Given the description of an element on the screen output the (x, y) to click on. 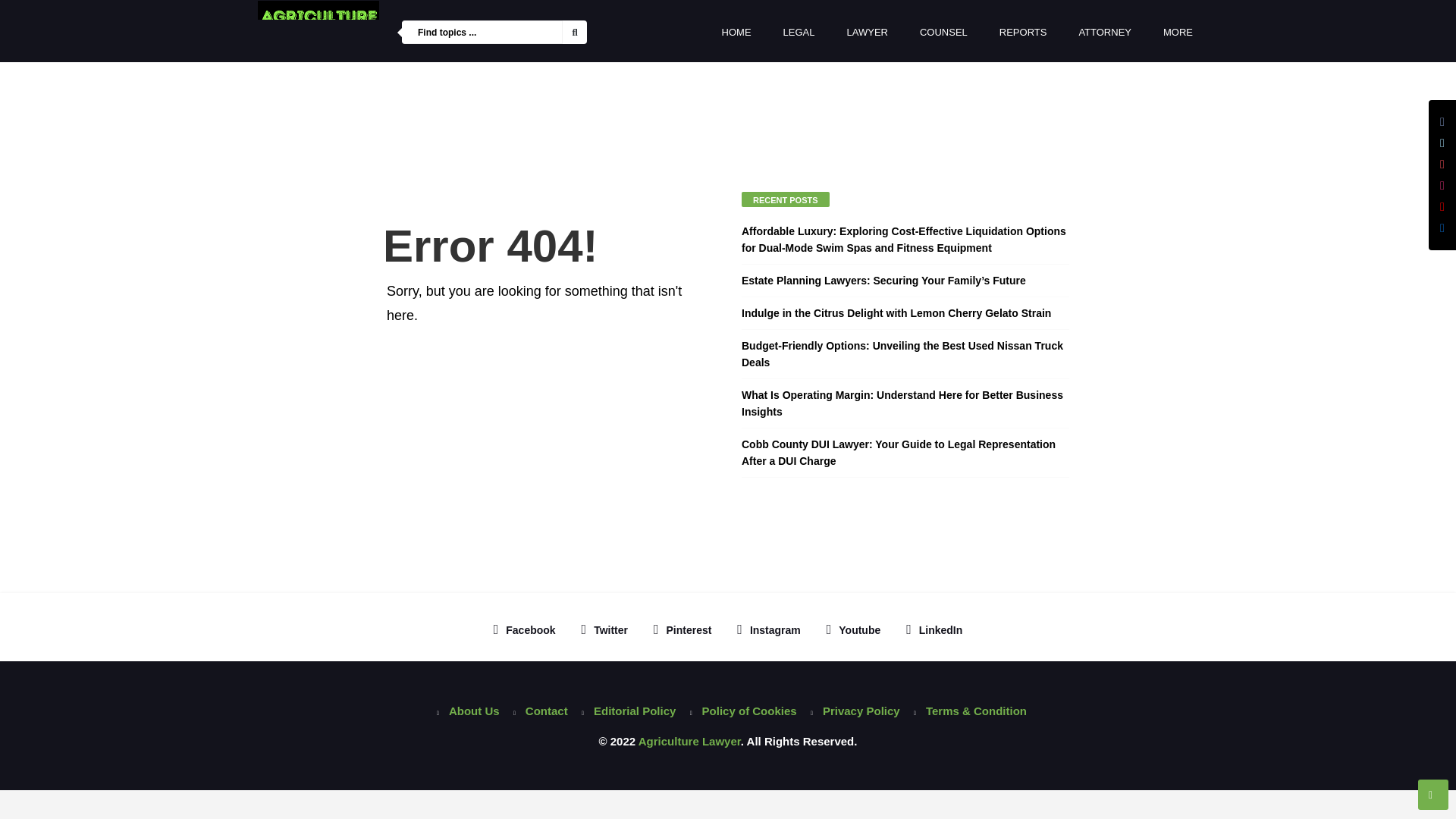
Twitter (603, 629)
Editorial Policy (624, 710)
LinkedIn (933, 629)
LEGAL (799, 32)
Privacy Policy (851, 710)
Policy of Cookies (739, 710)
HOME (736, 32)
Instagram (768, 629)
REPORTS (1023, 32)
Youtube (853, 629)
Contact (536, 710)
Pinterest (682, 629)
